Given the description of an element on the screen output the (x, y) to click on. 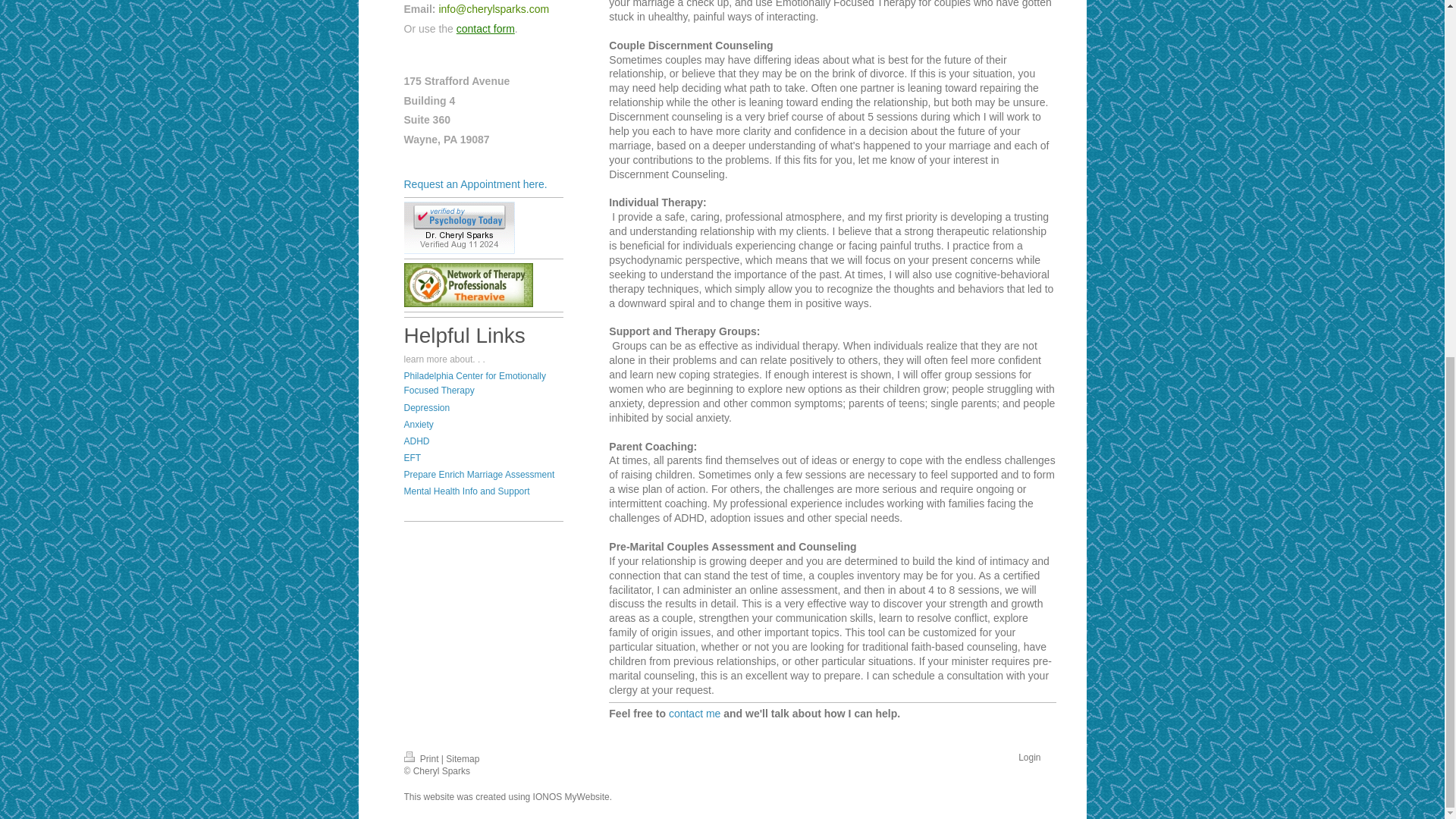
Request an Appointment here. (475, 184)
Depression (426, 407)
ADHD (416, 440)
Sitemap (462, 758)
hiladelphia Center for Emotionally Focused Therapy (473, 383)
contact me (694, 713)
Print (422, 758)
EFT (411, 457)
Anxiety (417, 424)
Prepare Enrich Marriage Assessment (478, 474)
